Given the description of an element on the screen output the (x, y) to click on. 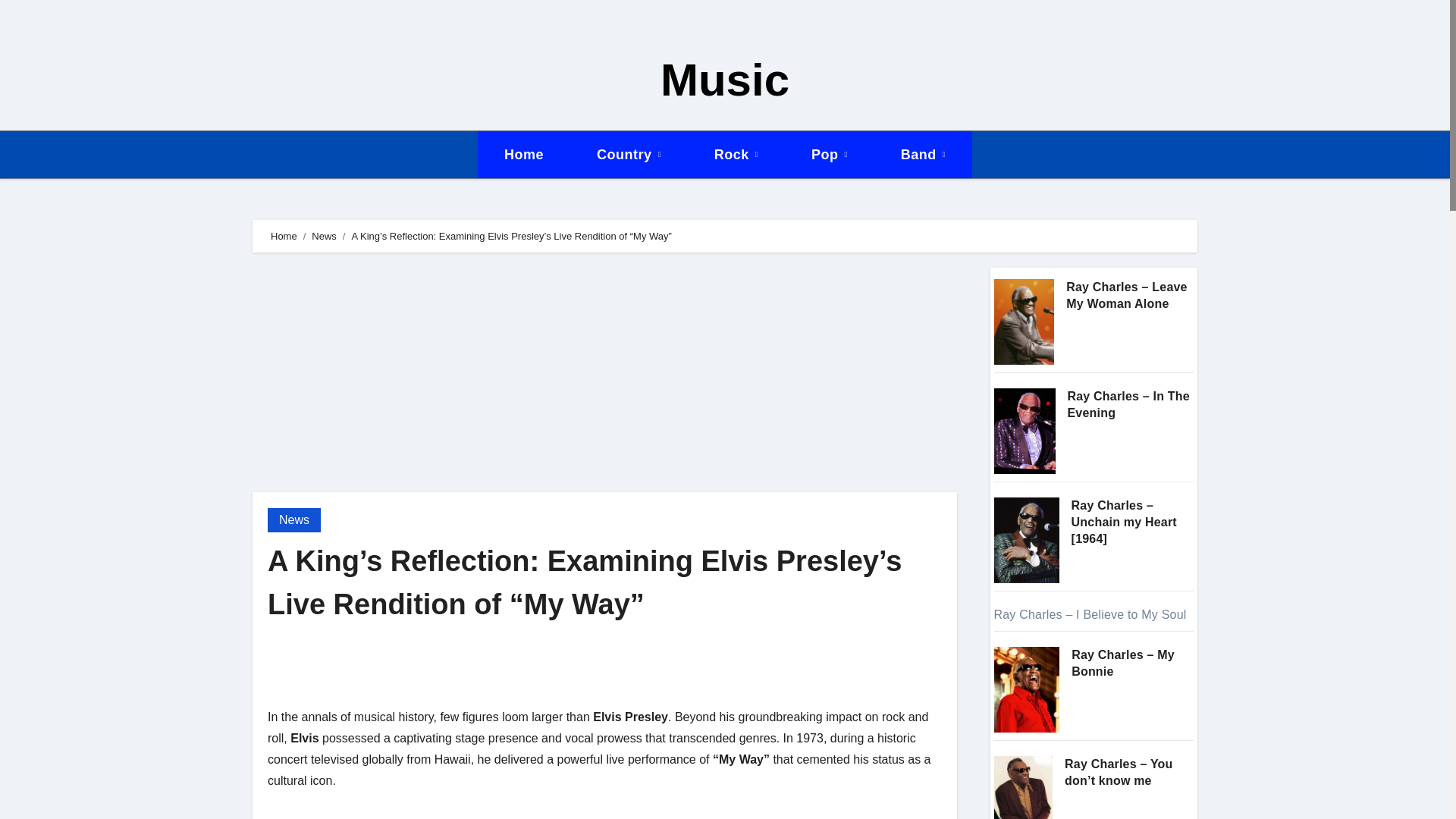
Rock (736, 154)
Music (725, 79)
Home (283, 235)
Country (628, 154)
Rock (736, 154)
Home (523, 154)
Country (628, 154)
Pop (829, 154)
Pop (829, 154)
News (293, 519)
Band (922, 154)
Home (523, 154)
News (323, 235)
